Given the description of an element on the screen output the (x, y) to click on. 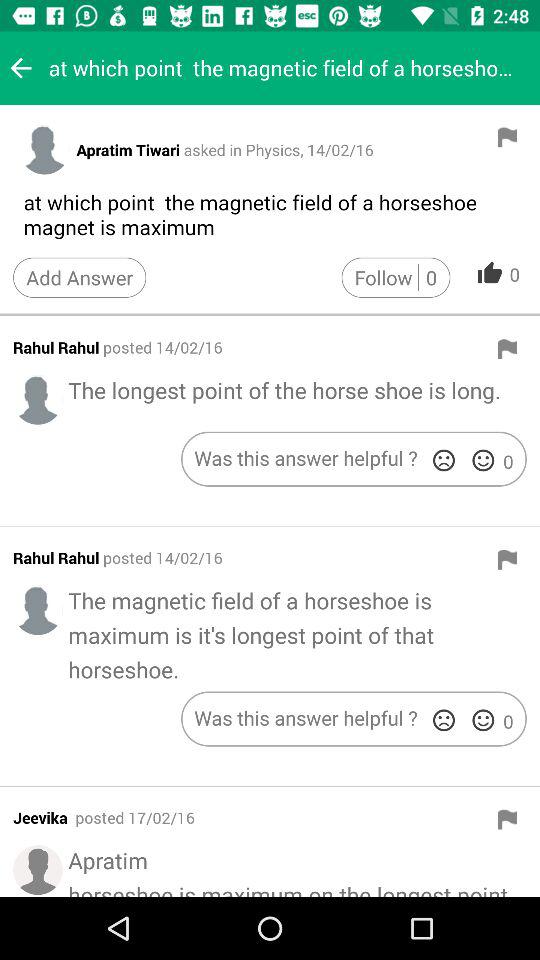
view user profile (38, 399)
